Given the description of an element on the screen output the (x, y) to click on. 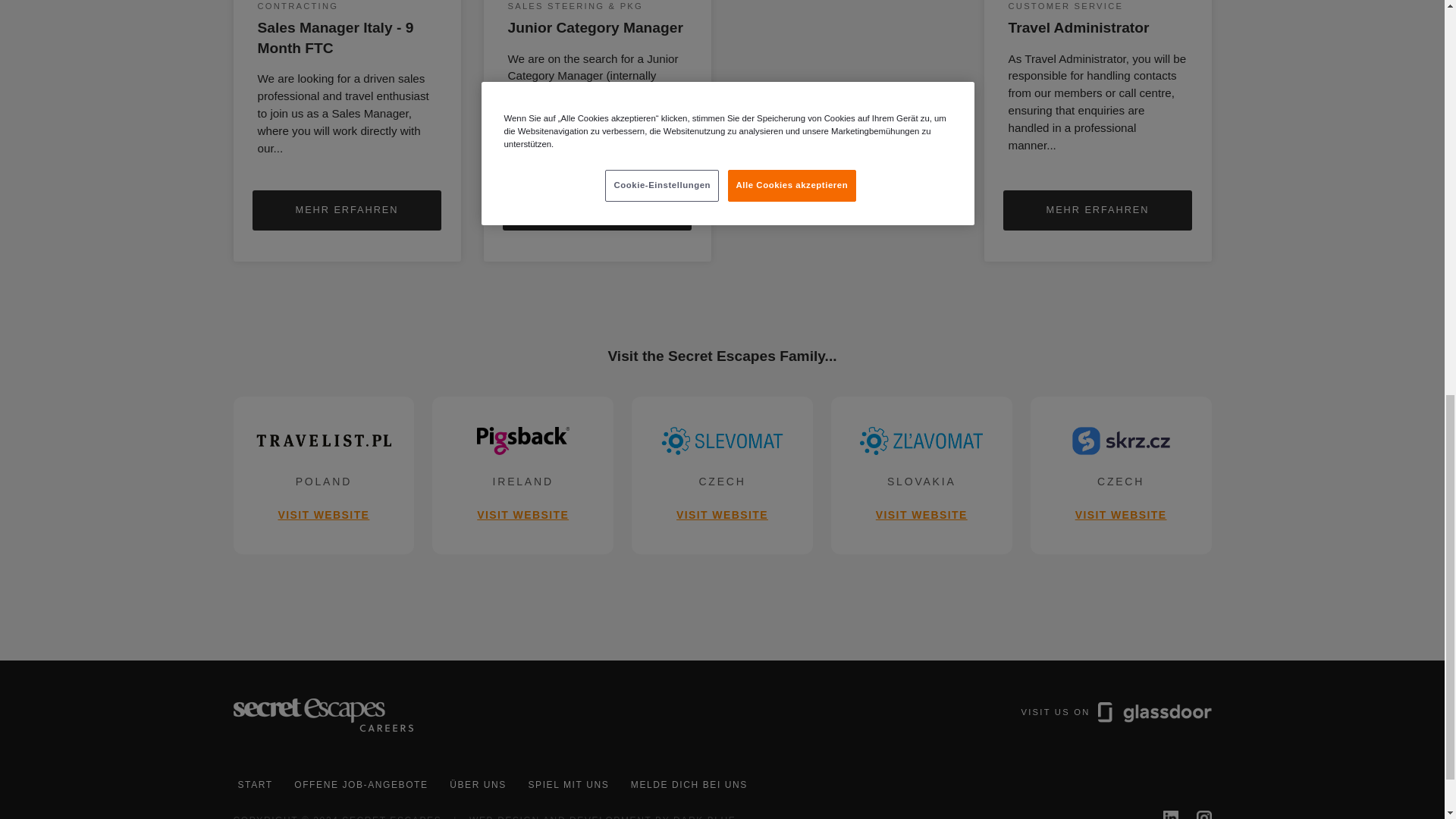
MEHR ERFAHREN (1120, 475)
START (1097, 210)
MEHR ERFAHREN (255, 784)
SPIEL MIT UNS (346, 210)
MEHR ERFAHREN (567, 784)
DARK BLUE (596, 210)
VISIT US ON (703, 816)
FOLLOW US ON (522, 475)
CONNECT WITH US ON (1116, 730)
OFFENE JOB-ANGEBOTE (1196, 814)
